Given the description of an element on the screen output the (x, y) to click on. 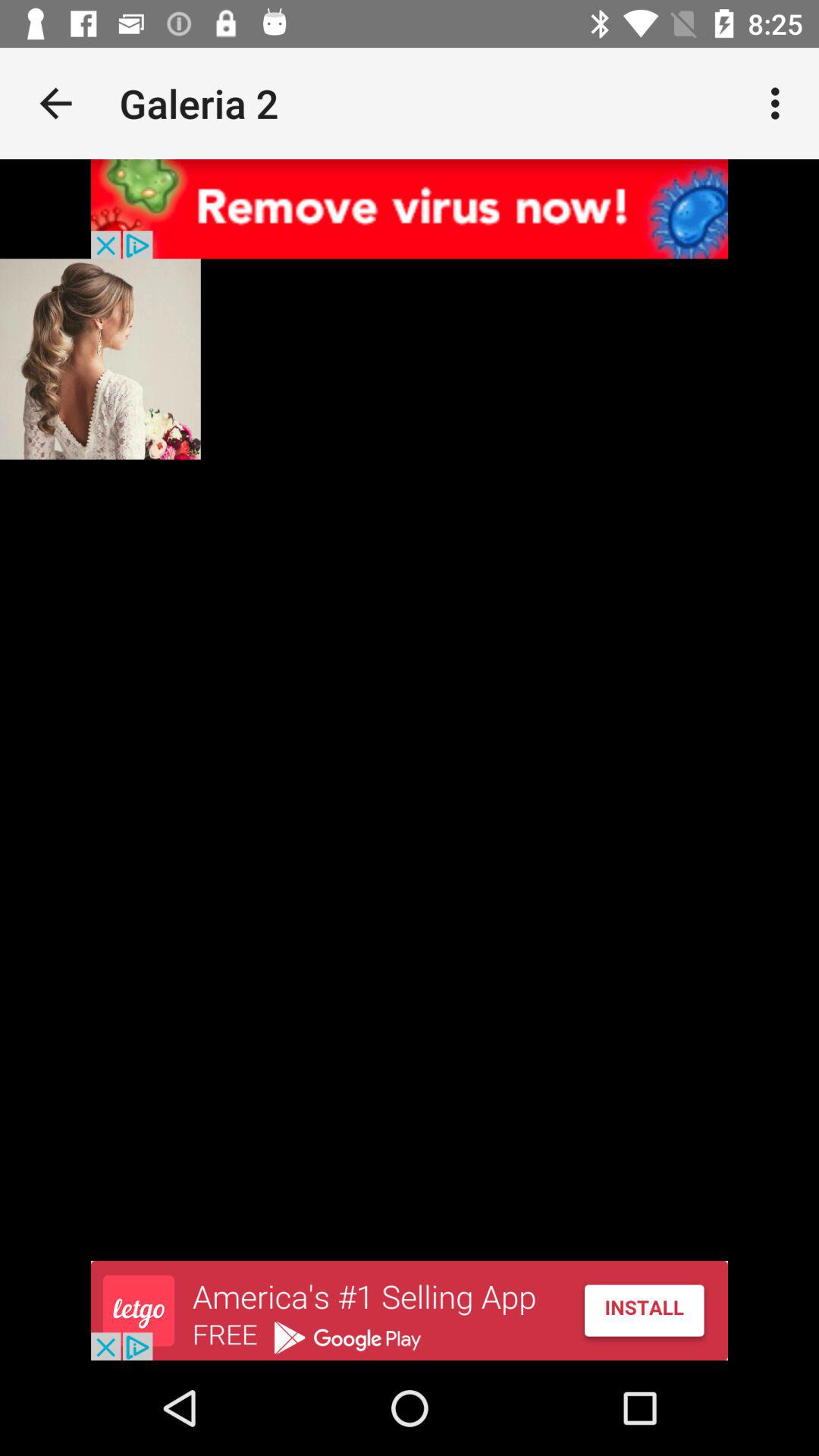
click on advertisements (409, 1310)
